Given the description of an element on the screen output the (x, y) to click on. 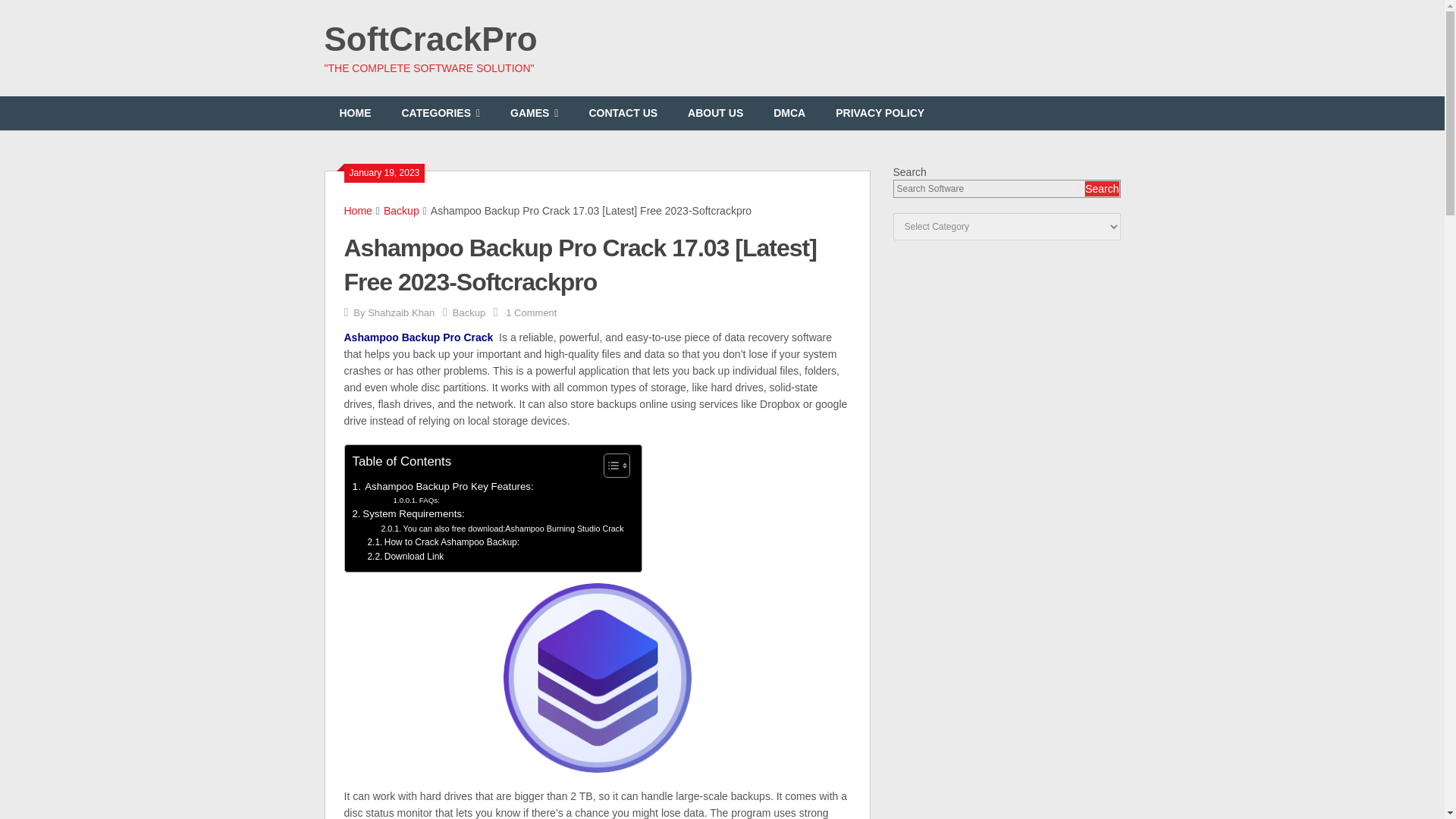
GAMES (534, 113)
1 Comment (530, 312)
SoftCrackPro (430, 38)
Backup (468, 312)
ABOUT US (715, 113)
Download Link (405, 556)
PRIVACY POLICY (880, 113)
Backup (401, 210)
System Requirements: (408, 513)
